Given the description of an element on the screen output the (x, y) to click on. 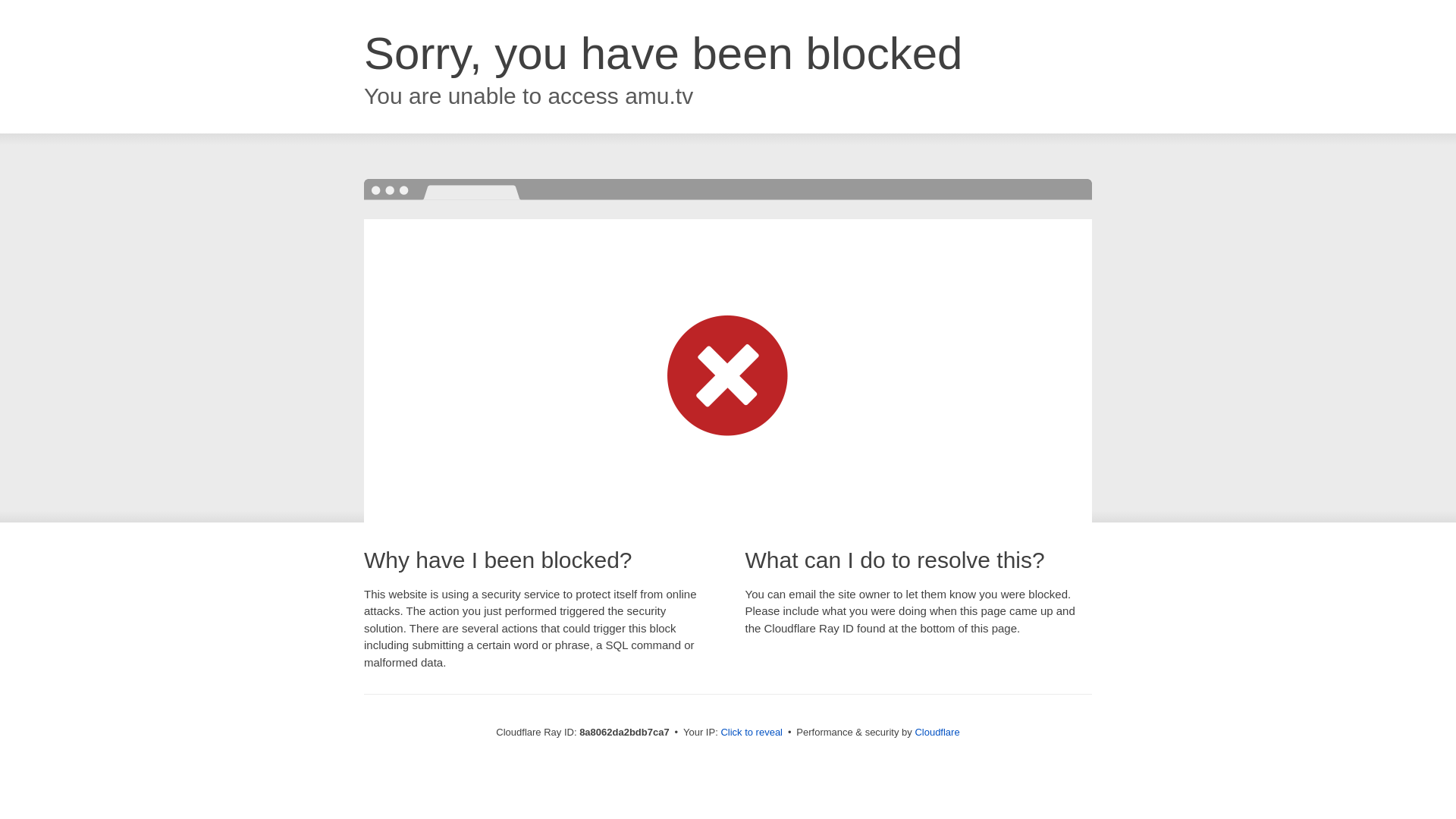
Cloudflare (936, 731)
Click to reveal (751, 732)
